Given the description of an element on the screen output the (x, y) to click on. 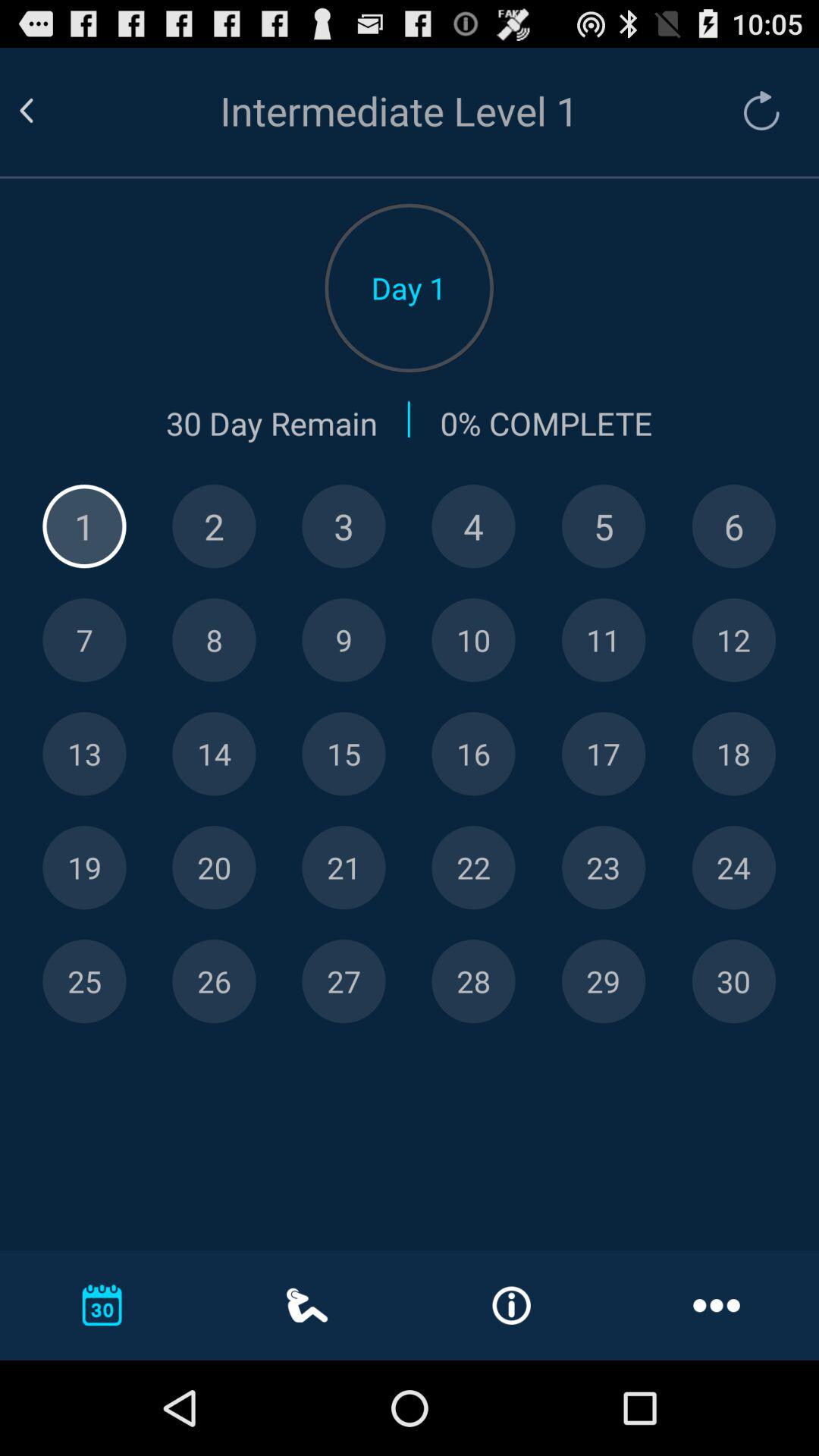
show details of day (603, 526)
